Given the description of an element on the screen output the (x, y) to click on. 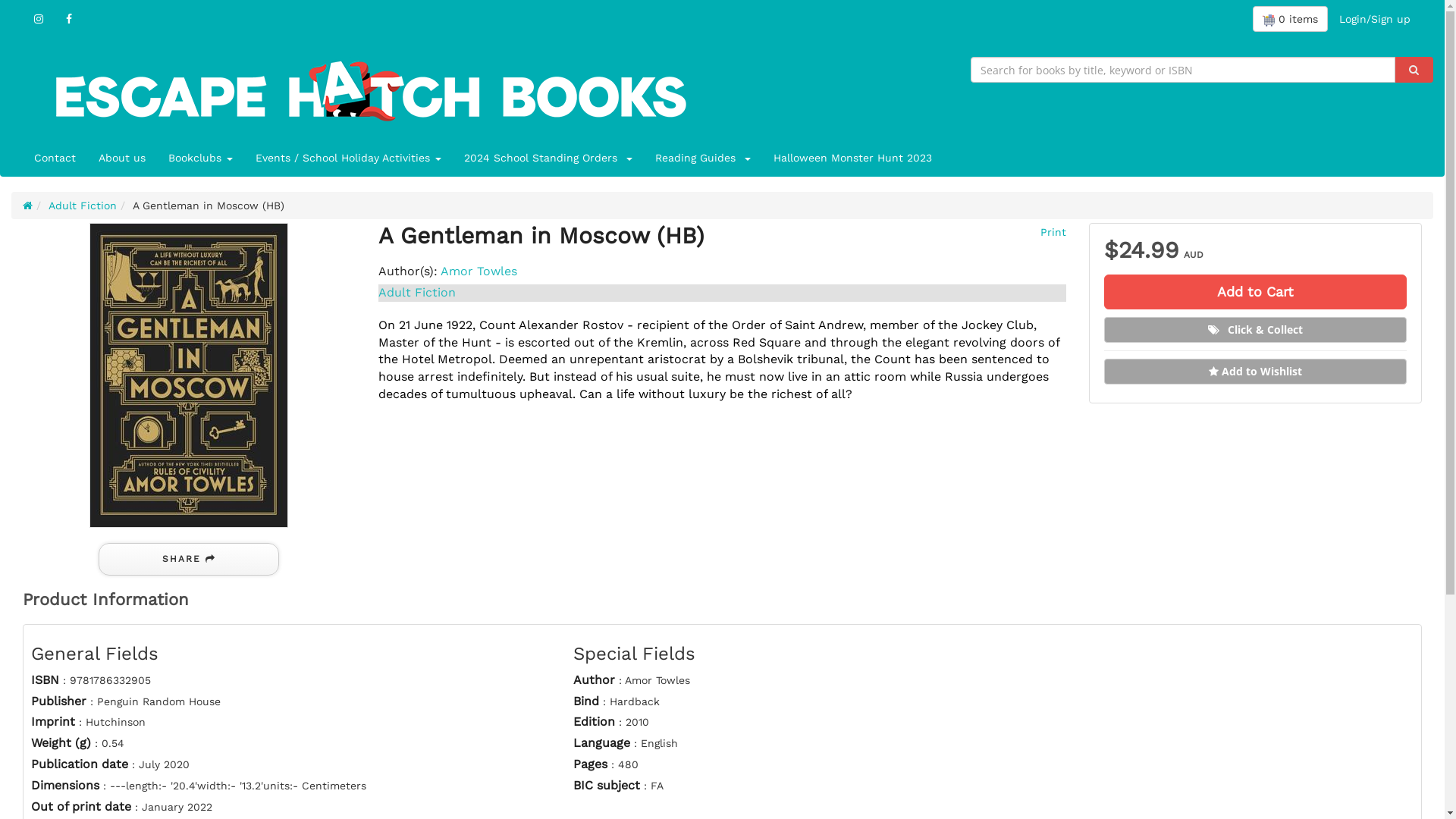
A Gentleman in Moscow (HB) Element type: hover (188, 374)
Click & Collect Element type: text (1255, 329)
About us Element type: text (121, 157)
2024 School Standing Orders   Element type: text (547, 157)
0 items Element type: text (1289, 18)
Reading Guides   Element type: text (702, 157)
Adult Fiction Element type: text (416, 292)
Events / School Holiday Activities  Element type: text (348, 157)
SHARE Element type: text (188, 558)
Amor Towles Element type: text (478, 270)
0 items Element type: text (1289, 18)
Adult Fiction Element type: text (82, 205)
Bookclubs  Element type: text (200, 157)
Halloween Monster Hunt 2023 Element type: text (852, 157)
Contact Element type: text (54, 157)
 Print Element type: text (1051, 231)
Add to Cart Element type: text (1255, 291)
Login/Sign up Element type: text (1374, 18)
Add to Wishlist Element type: text (1255, 371)
